Given the description of an element on the screen output the (x, y) to click on. 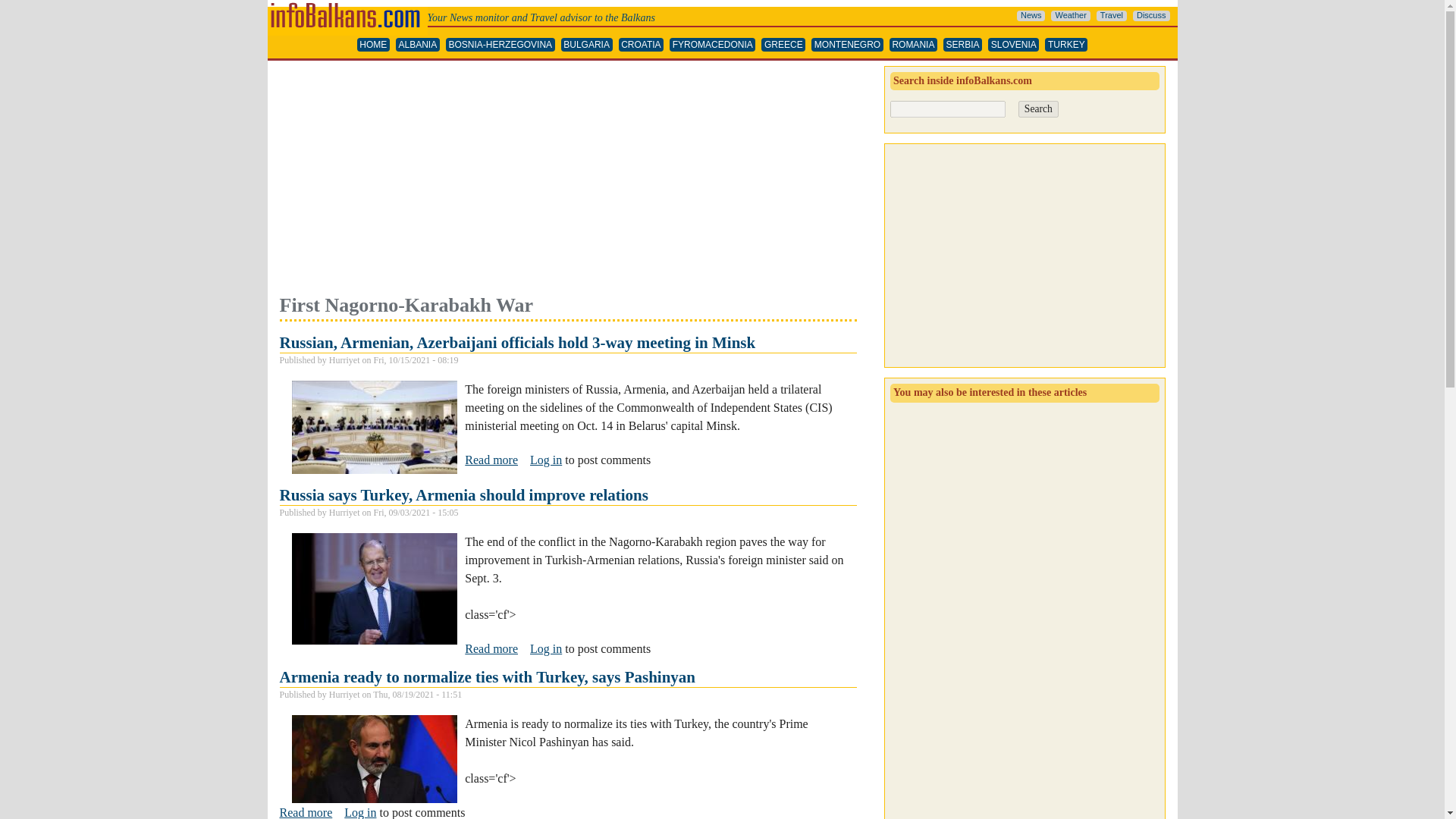
Armenia ready to normalize ties with Turkey, says Pashinyan (487, 677)
Advertisement (567, 178)
Russia says Turkey, Armenia should improve relations (491, 649)
Travel (1111, 15)
Weather (1070, 15)
MONTENEGRO (846, 44)
BOSNIA-HERZEGOVINA (499, 44)
SLOVENIA (1013, 44)
